Given the description of an element on the screen output the (x, y) to click on. 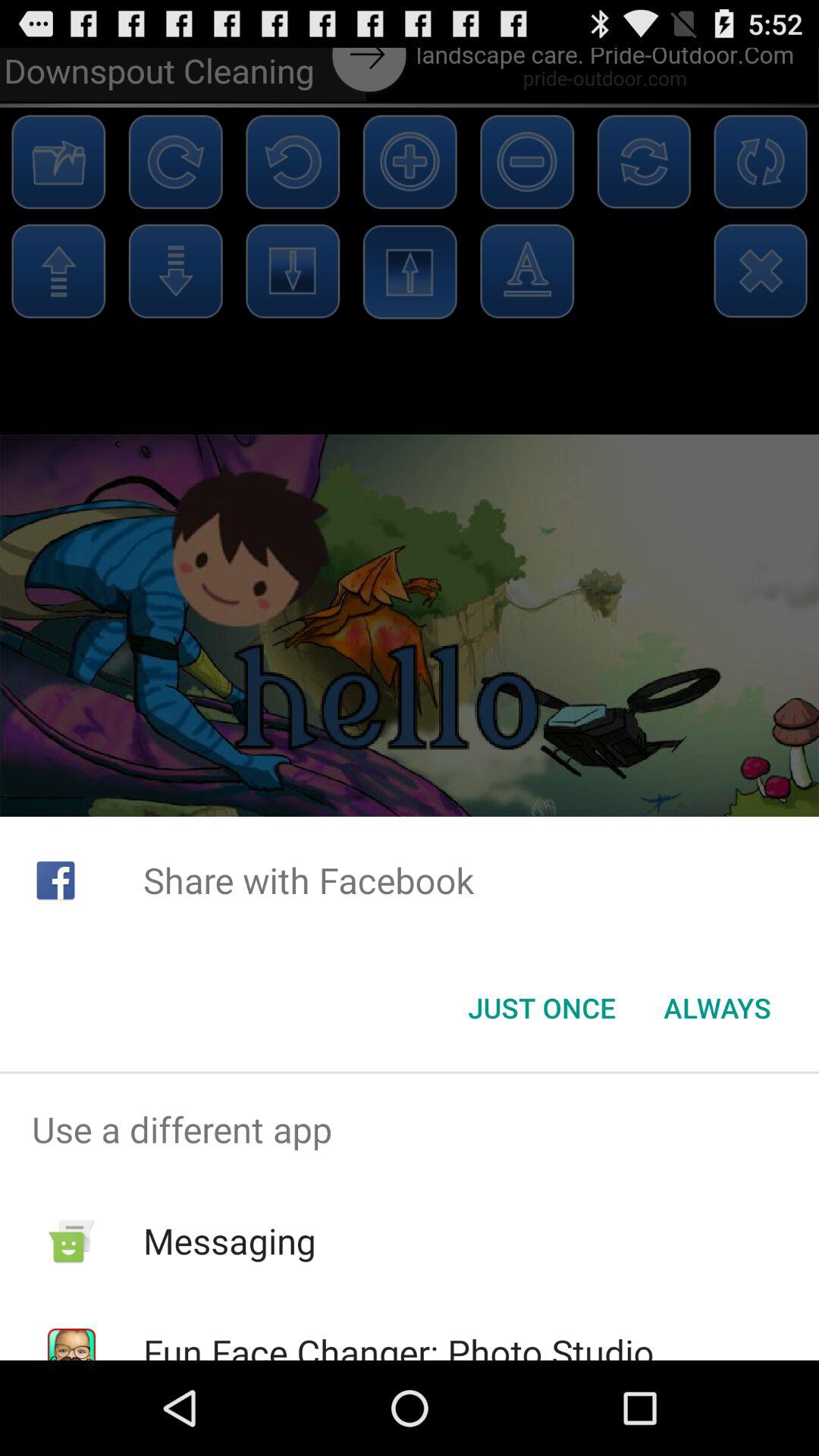
press the app above fun face changer item (229, 1240)
